Given the description of an element on the screen output the (x, y) to click on. 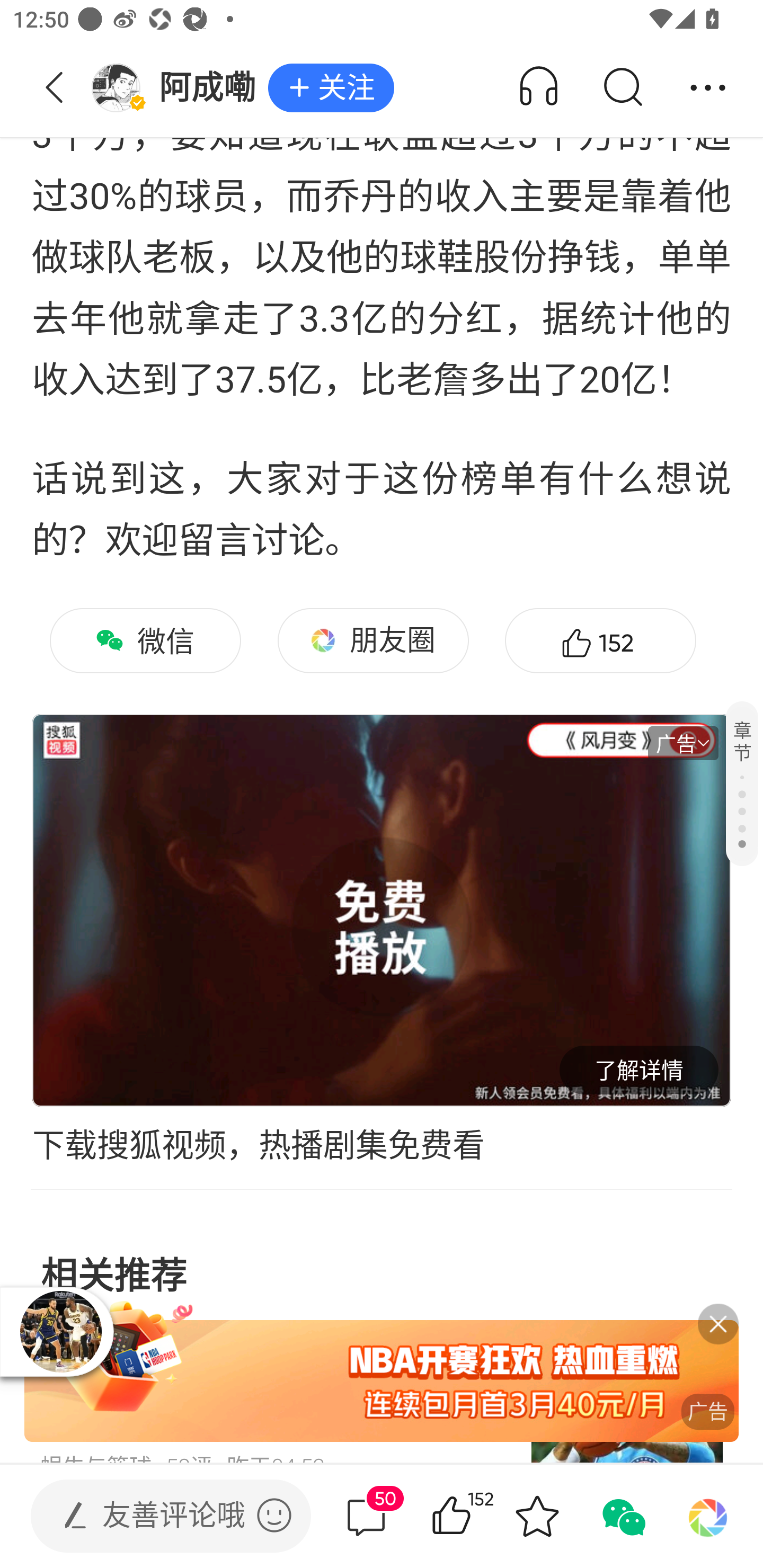
阿成嘞 (179, 87)
搜索  (622, 87)
分享  (707, 87)
 返回 (54, 87)
 关注 (330, 88)
微信 分享到微信 (145, 640)
朋友圈 分享到朋友圈 (373, 640)
152赞 (600, 640)
章节 (741, 782)
广告 (682, 742)
了解详情 (638, 1069)
下载搜狐视频，热播剧集免费看 (381, 1146)
播放器 (60, 1331)
广告 (381, 1381)
发表评论  友善评论哦 发表评论  (155, 1516)
50评论  50 评论 (365, 1516)
152赞 (476, 1516)
收藏  (536, 1516)
分享到微信  (622, 1516)
分享到朋友圈 (707, 1516)
 (274, 1515)
